Given the description of an element on the screen output the (x, y) to click on. 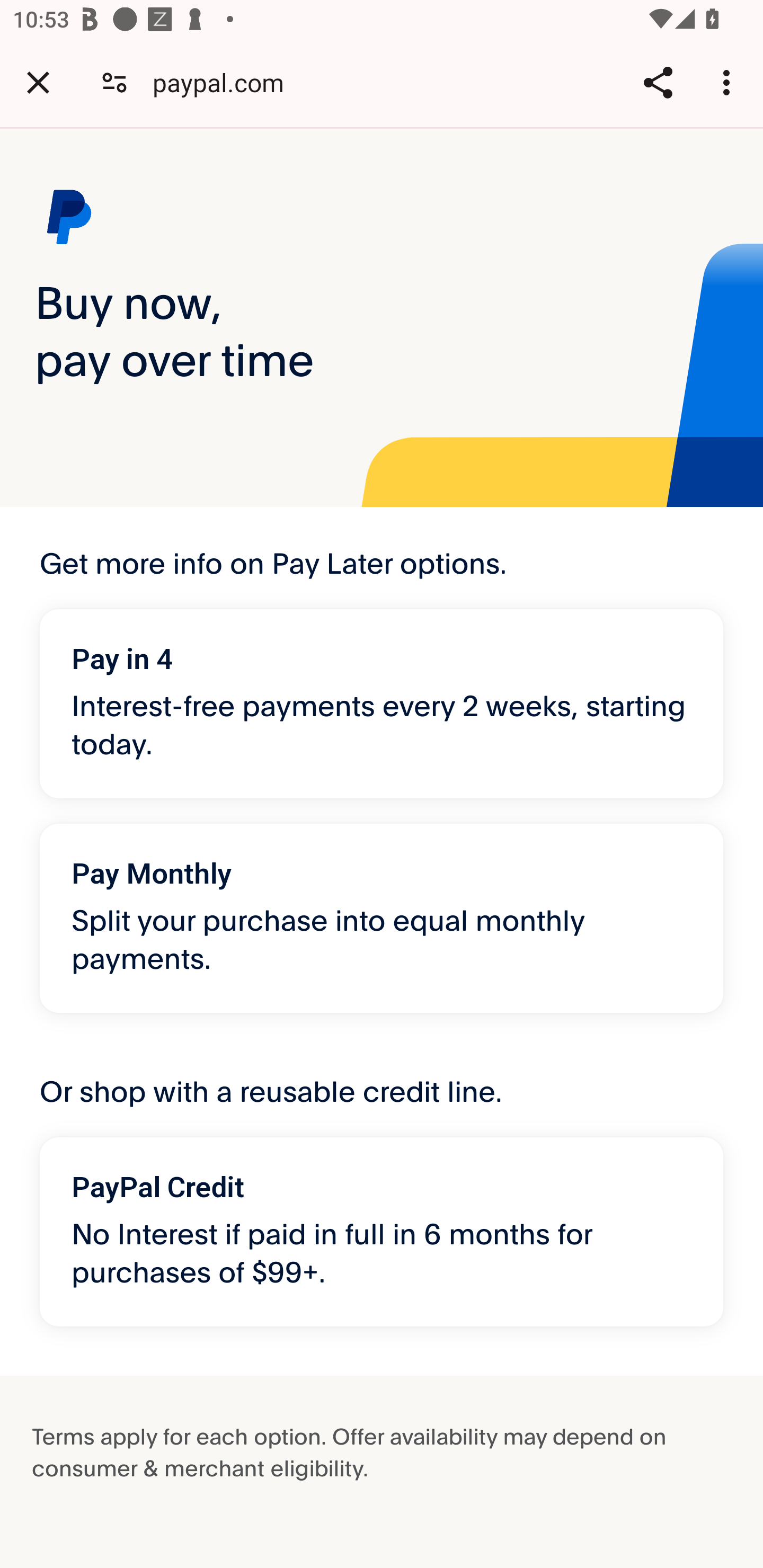
Close tab (38, 82)
Share (657, 82)
Customize and control Google Chrome (729, 82)
Connection is secure (114, 81)
paypal.com (224, 81)
